Given the description of an element on the screen output the (x, y) to click on. 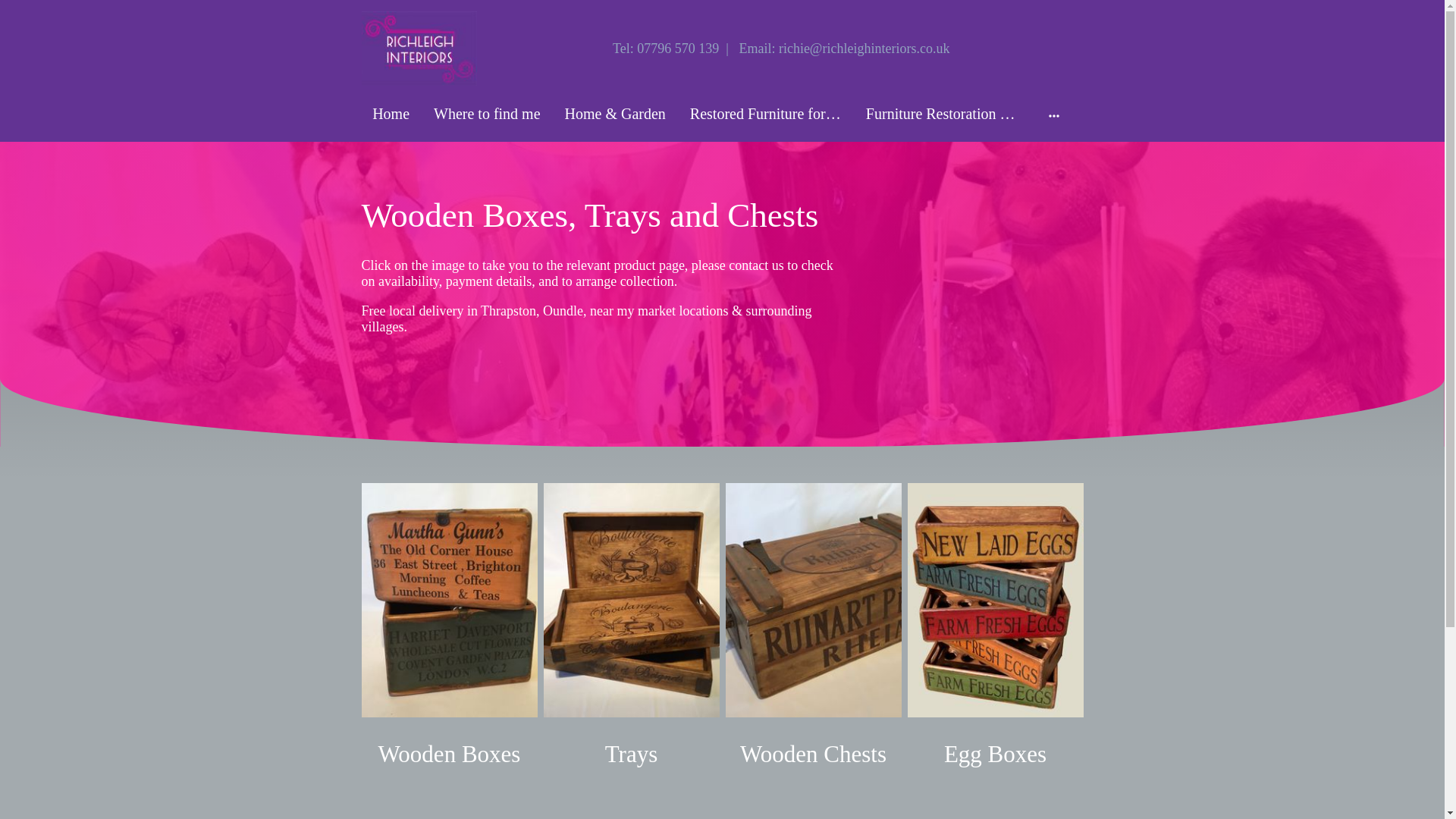
Home (390, 113)
Furniture Restoration Service (942, 113)
Where to find me (487, 113)
Restored Furniture for Sale (765, 113)
